Given the description of an element on the screen output the (x, y) to click on. 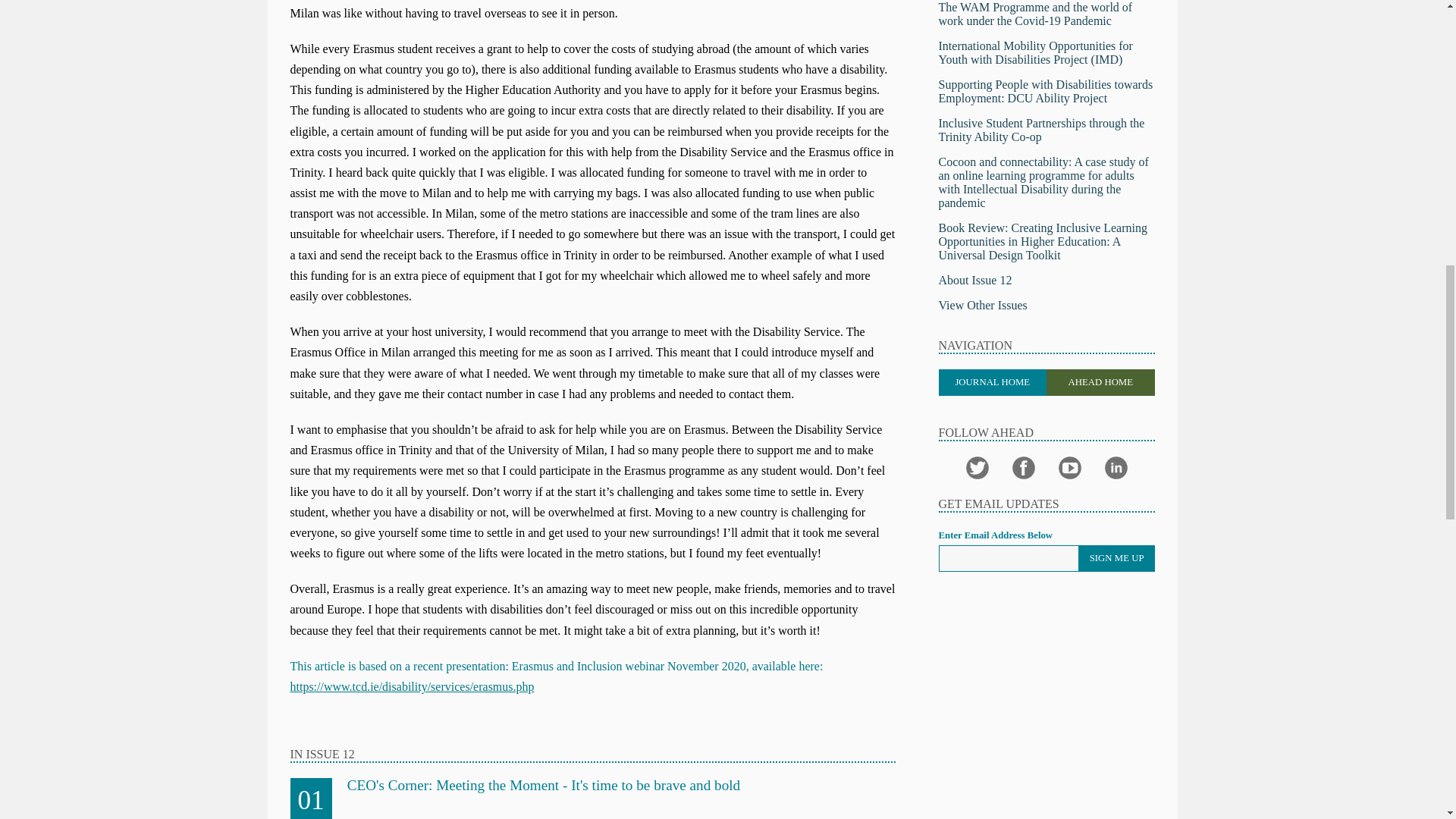
Sign Me Up (1116, 558)
